Given the description of an element on the screen output the (x, y) to click on. 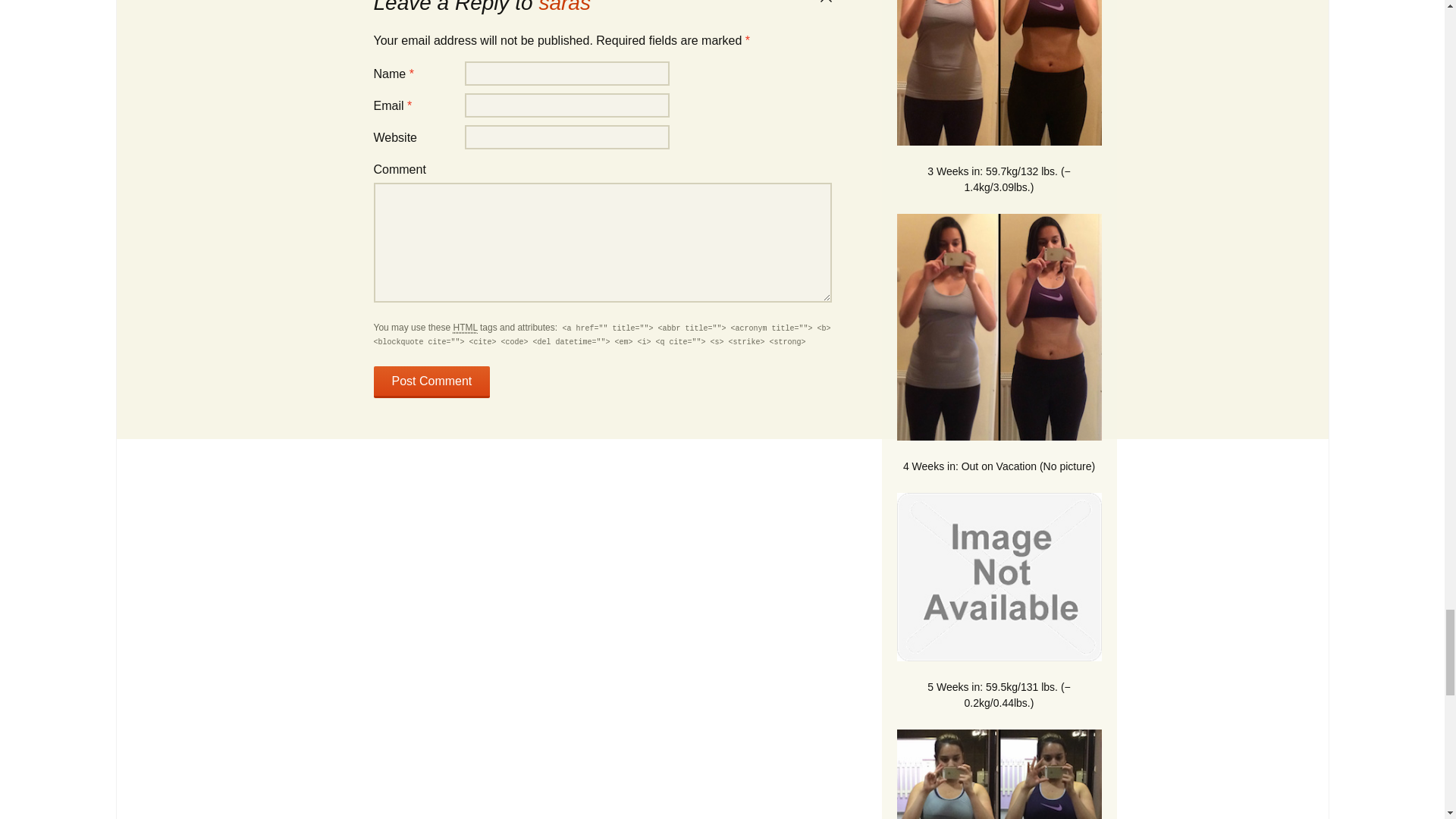
saras (563, 7)
Post Comment (430, 382)
Cancel reply (824, 1)
HyperText Markup Language (464, 327)
Post Comment (430, 382)
